Given the description of an element on the screen output the (x, y) to click on. 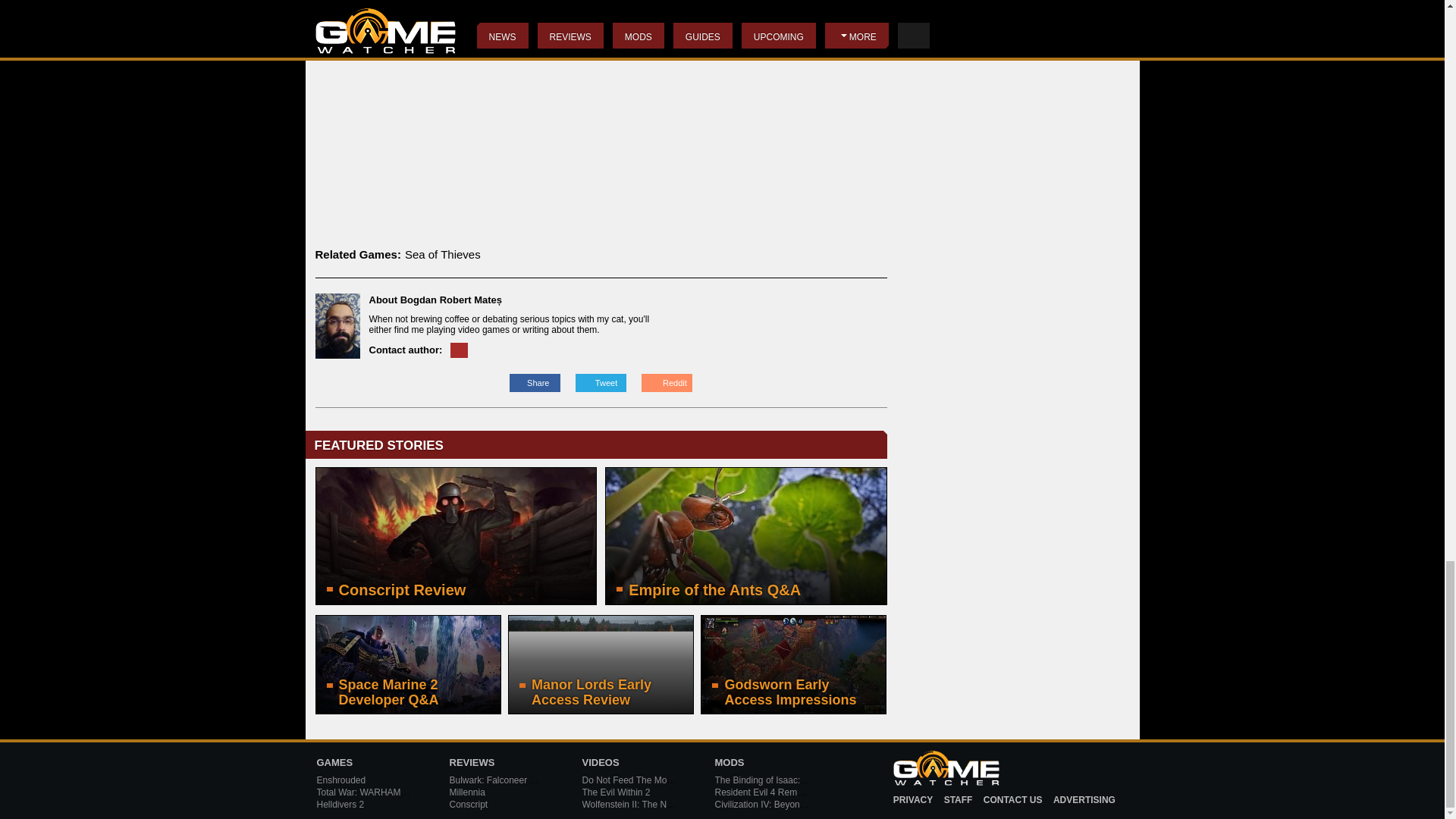
YouTube video player (600, 106)
Sea of Thieves (442, 254)
